Given the description of an element on the screen output the (x, y) to click on. 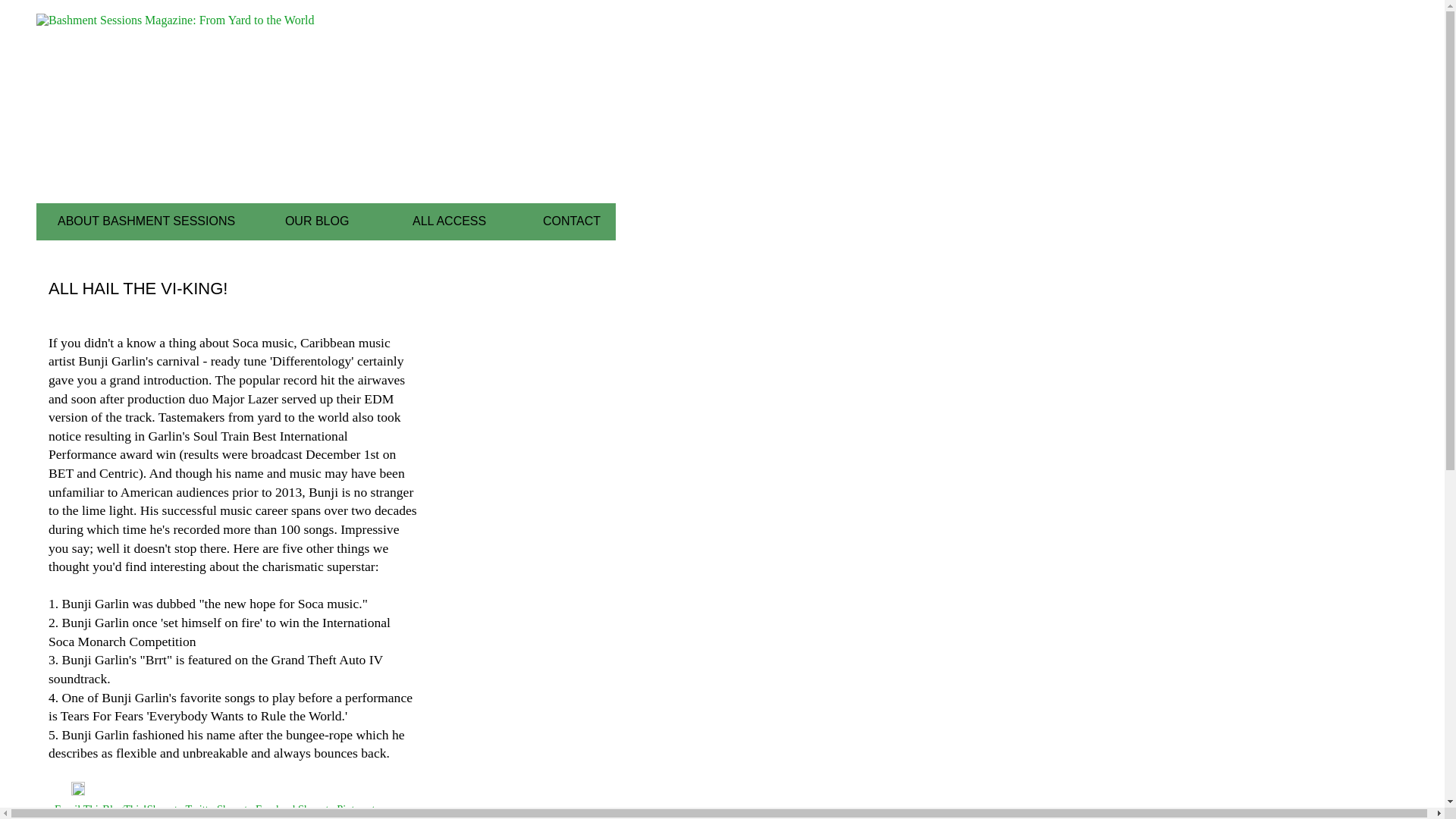
Email This (78, 808)
Email This (78, 808)
ABOUT BASHMENT SESSIONS (146, 221)
Share to Twitter (181, 808)
Share to Facebook (257, 808)
Share to Pinterest (336, 808)
Share to Twitter (181, 808)
BlogThis! (124, 808)
Email Post (63, 791)
Edit Post (77, 791)
Share to Facebook (257, 808)
Share to Pinterest (336, 808)
BlogThis! (124, 808)
CONTACT (571, 221)
